Given the description of an element on the screen output the (x, y) to click on. 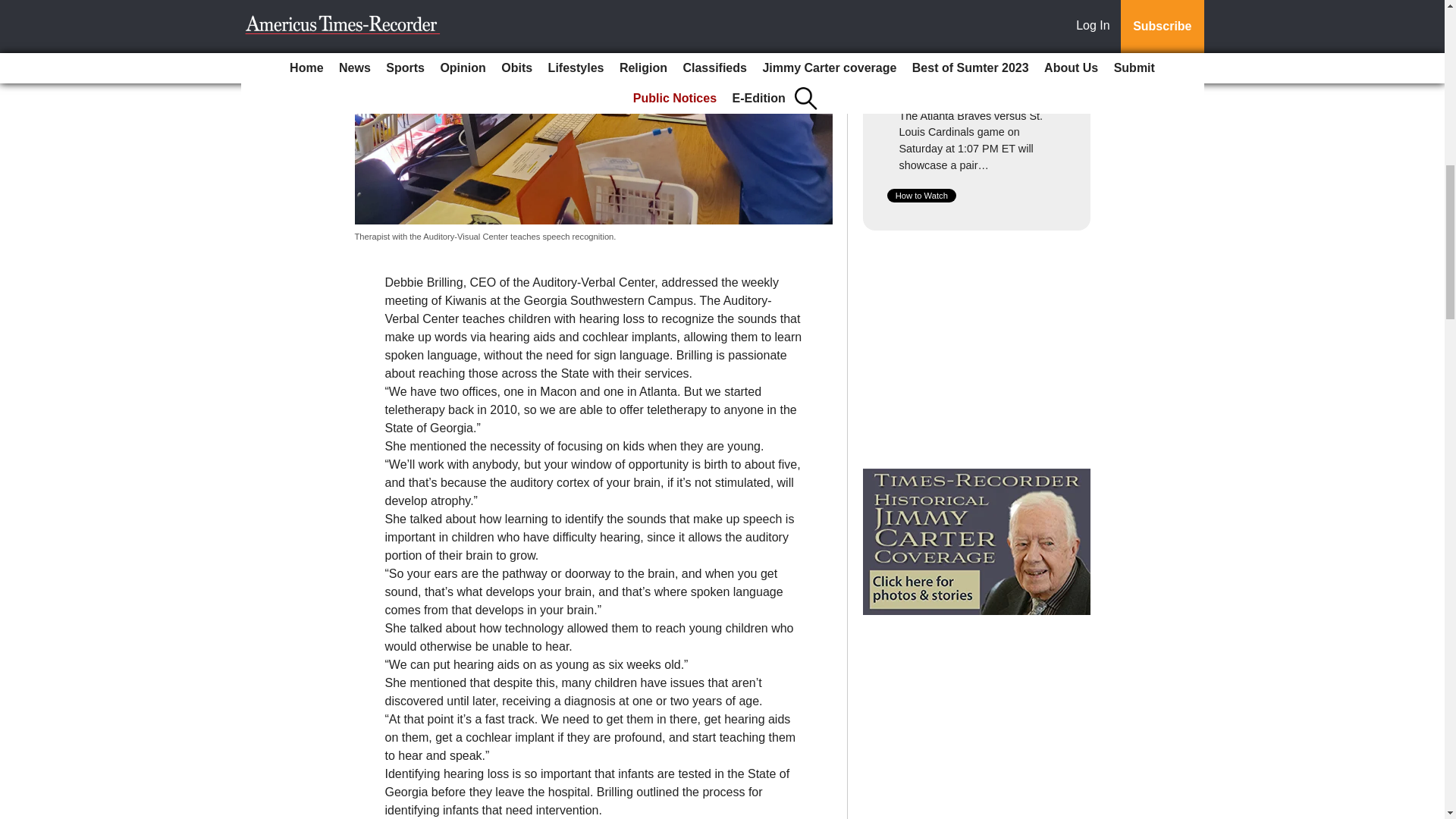
How to Watch (921, 195)
